Given the description of an element on the screen output the (x, y) to click on. 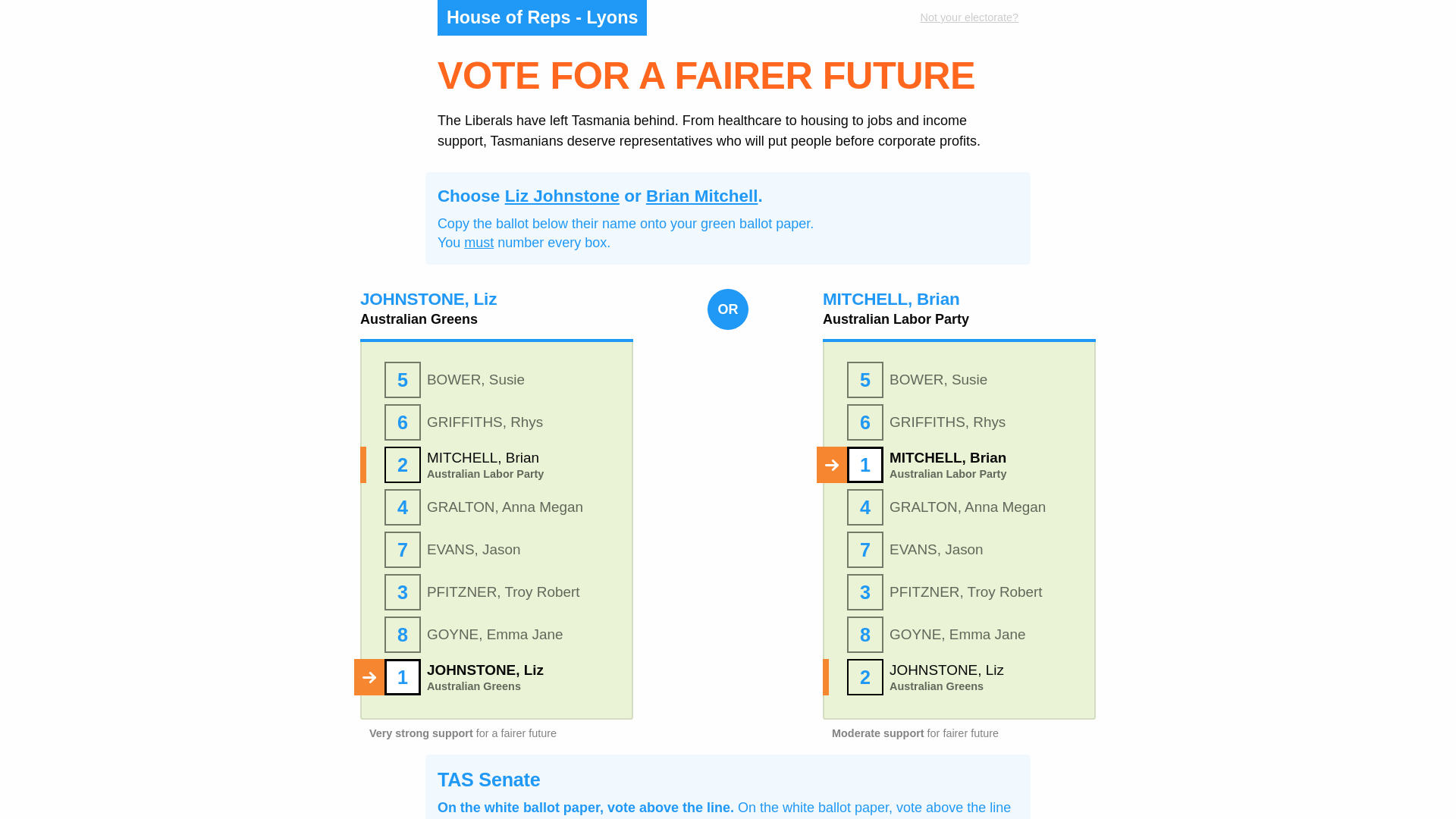
Not your electorate? Element type: text (832, 17)
